Given the description of an element on the screen output the (x, y) to click on. 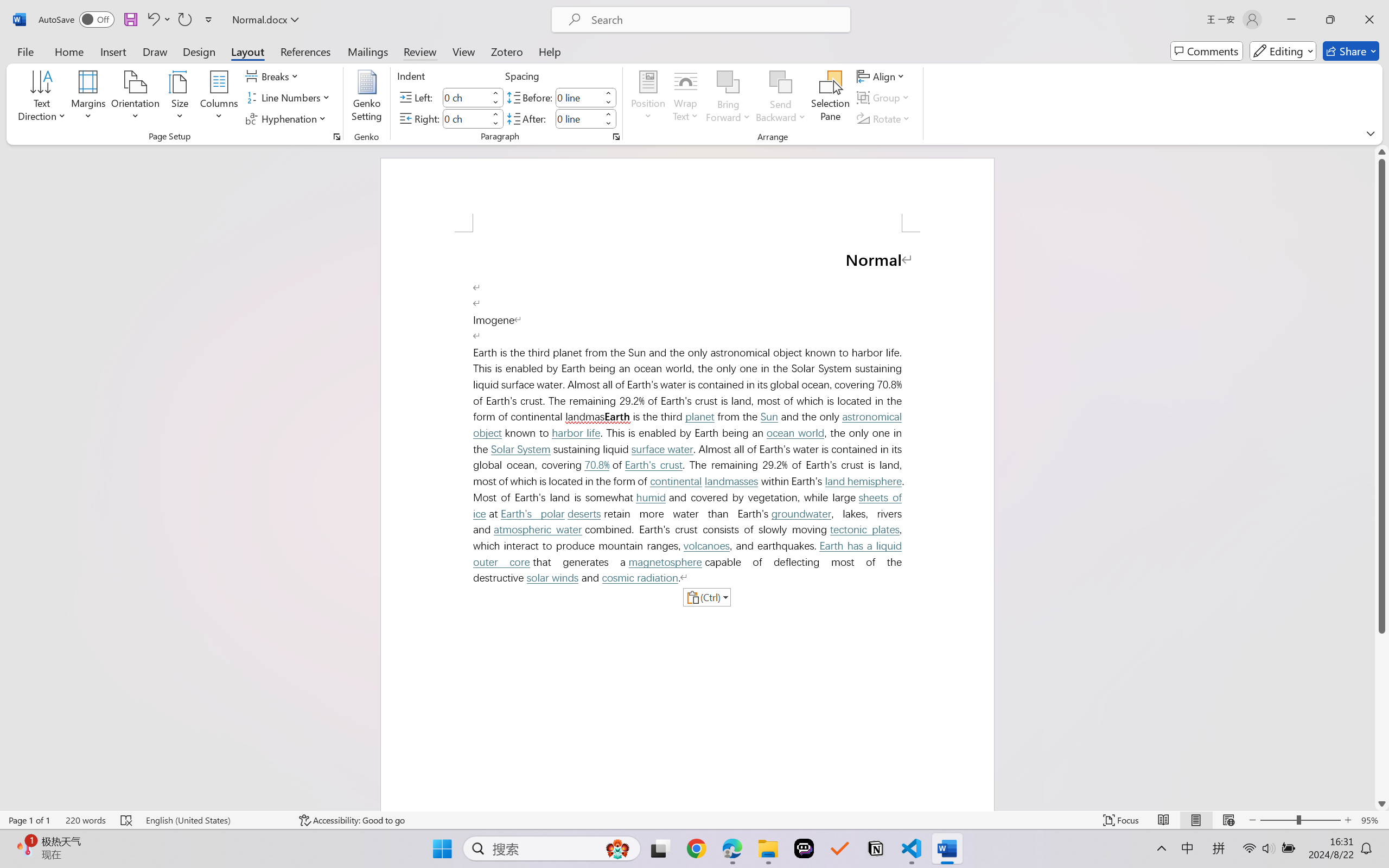
Page down (1382, 714)
Action: Paste alternatives (706, 597)
Repeat Doc Close (184, 19)
tectonic plates (865, 529)
Page 1 content (687, 521)
More (608, 113)
Bring Forward (728, 97)
